Given the description of an element on the screen output the (x, y) to click on. 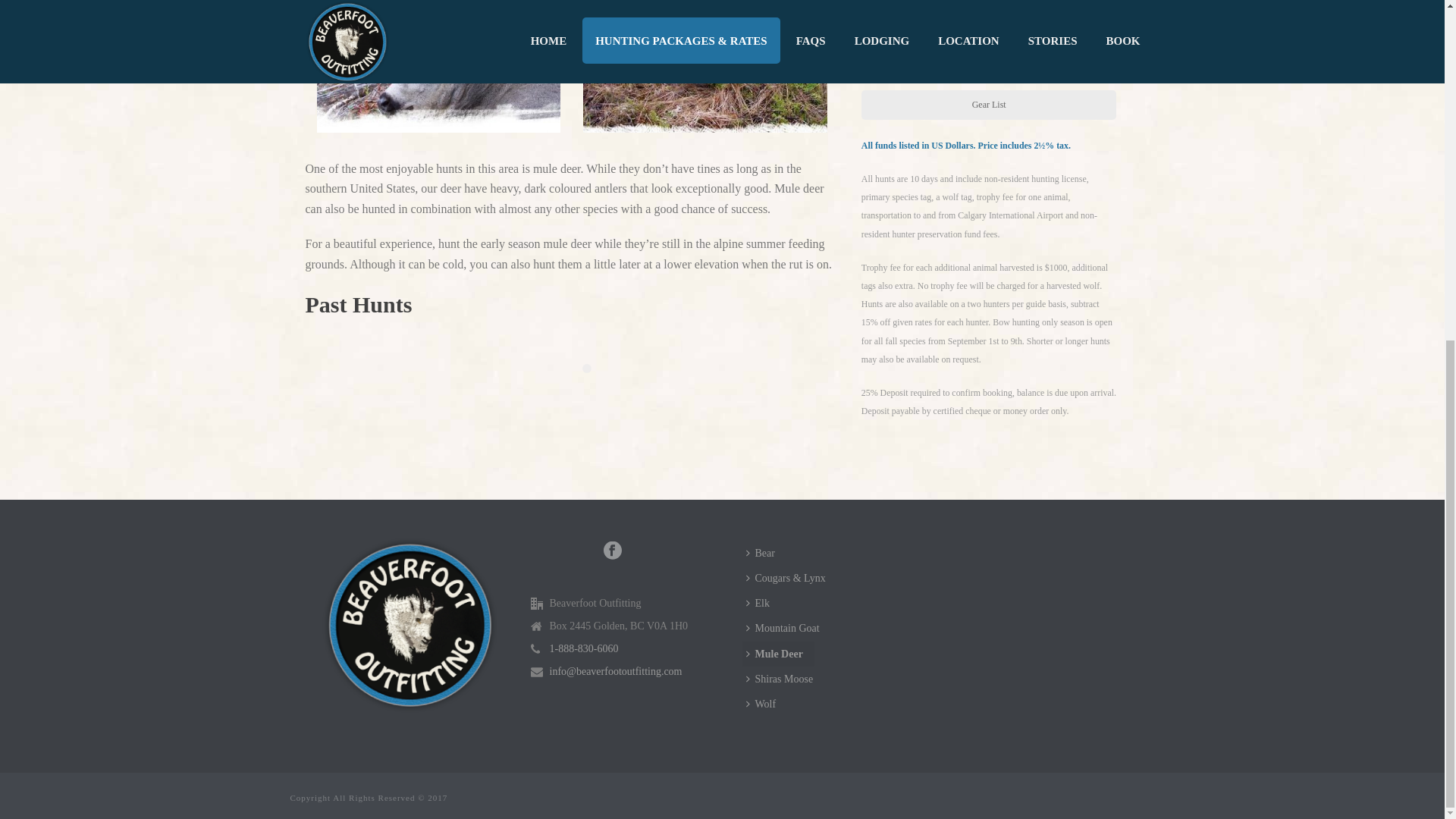
Follow Us on facebook (612, 551)
deer2 (438, 66)
Gear List (988, 104)
